Given the description of an element on the screen output the (x, y) to click on. 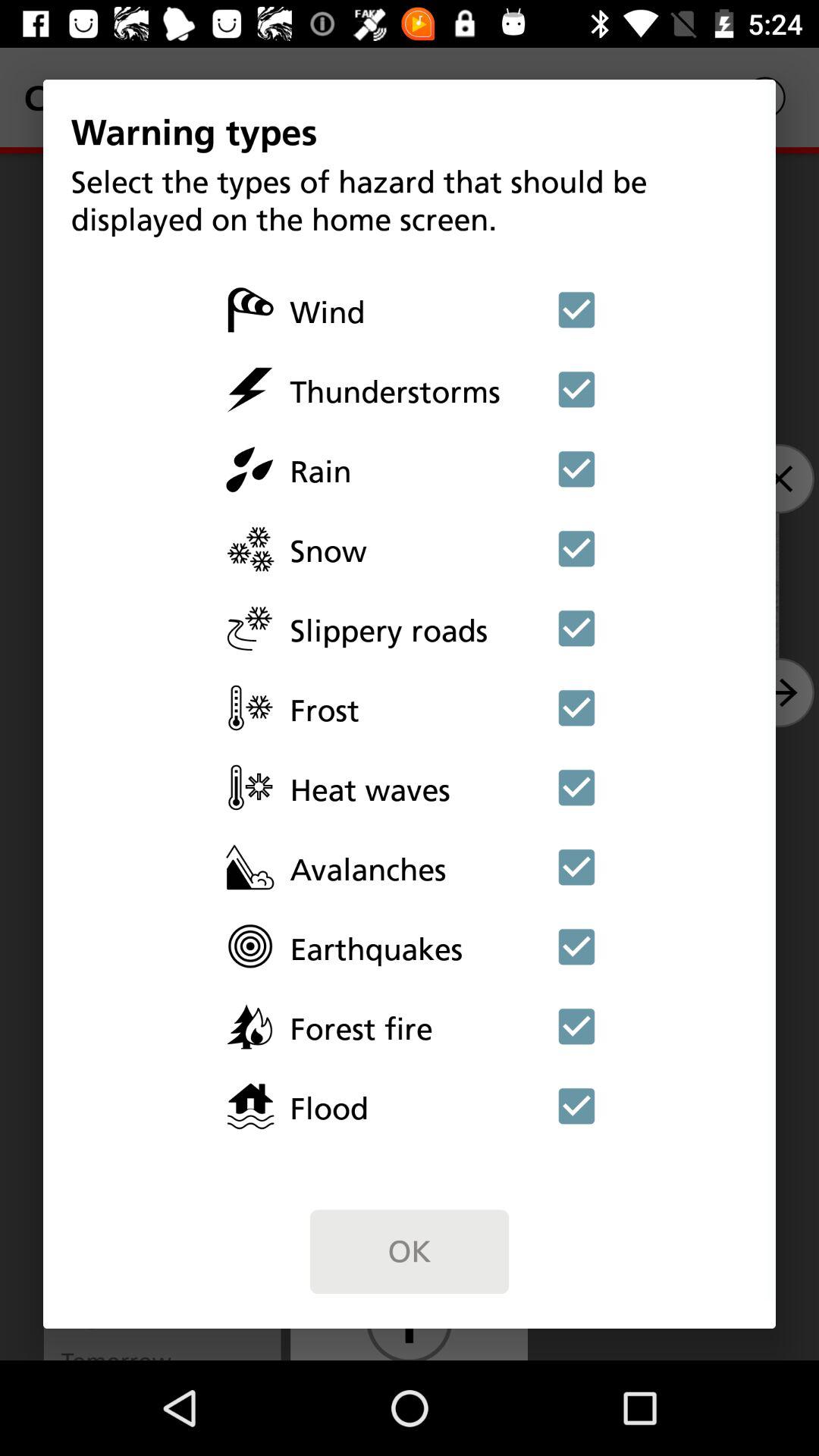
toggle slippery road notification (576, 628)
